Given the description of an element on the screen output the (x, y) to click on. 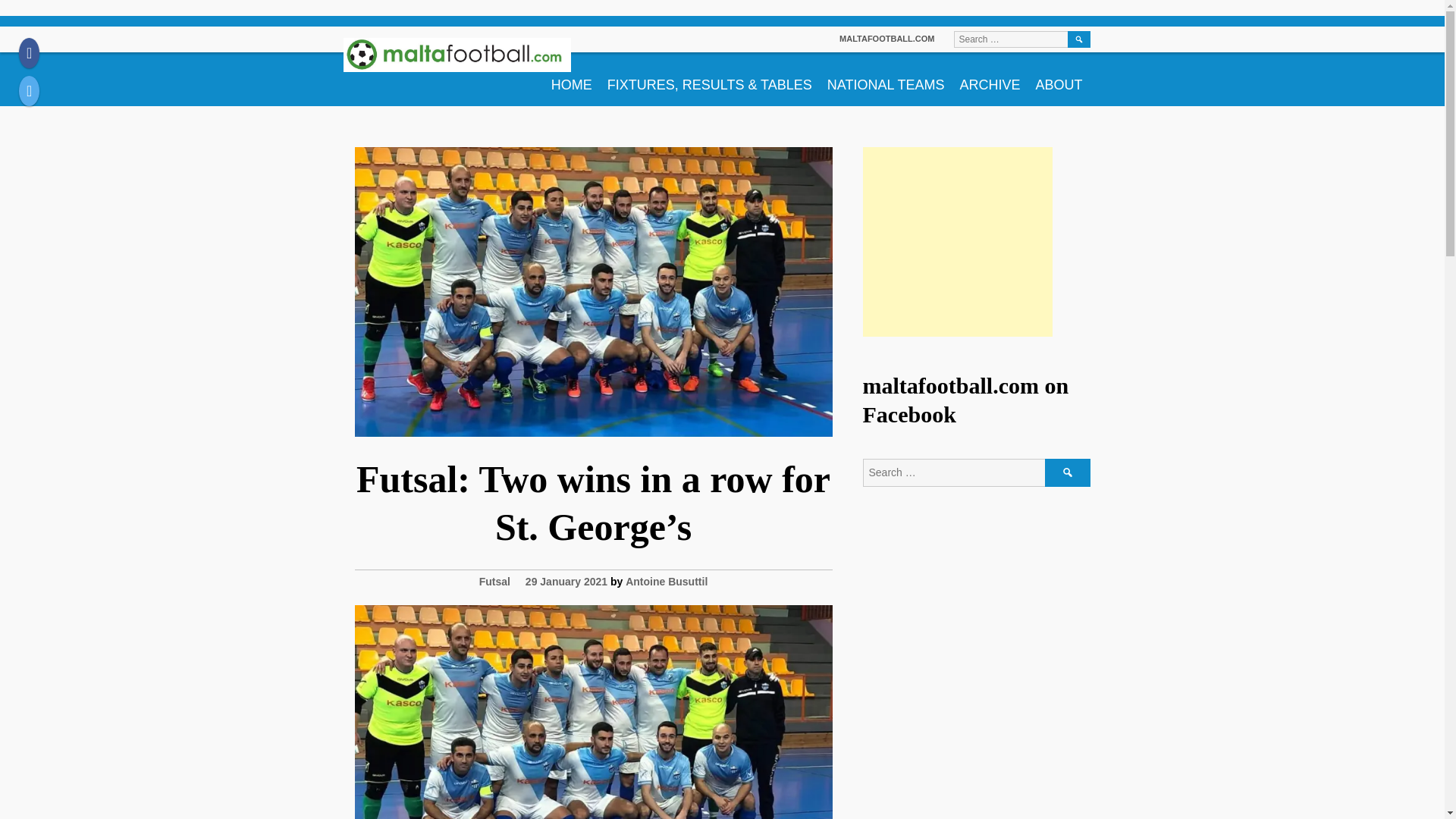
MALTAFOOTBALL.COM (887, 38)
NATIONAL TEAMS (885, 79)
ARCHIVE (989, 79)
HOME (571, 79)
Search (1078, 39)
